Given the description of an element on the screen output the (x, y) to click on. 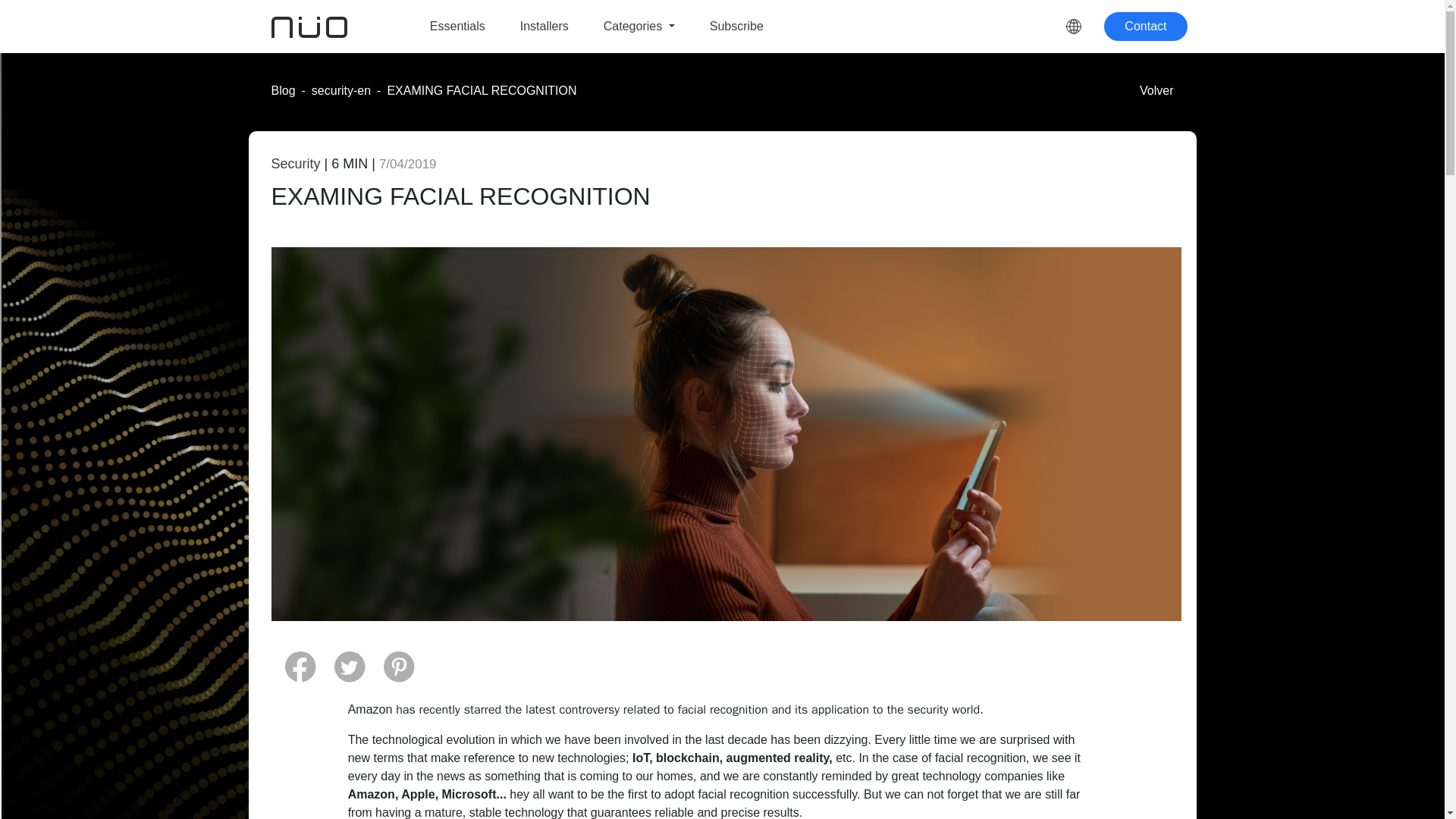
Volver (1156, 90)
Security (295, 163)
Installers (544, 26)
Contact (1144, 26)
Subscribe (736, 26)
Blog (282, 90)
security-en (341, 90)
Contact (1144, 26)
Essentials (457, 26)
Categories (638, 26)
